Given the description of an element on the screen output the (x, y) to click on. 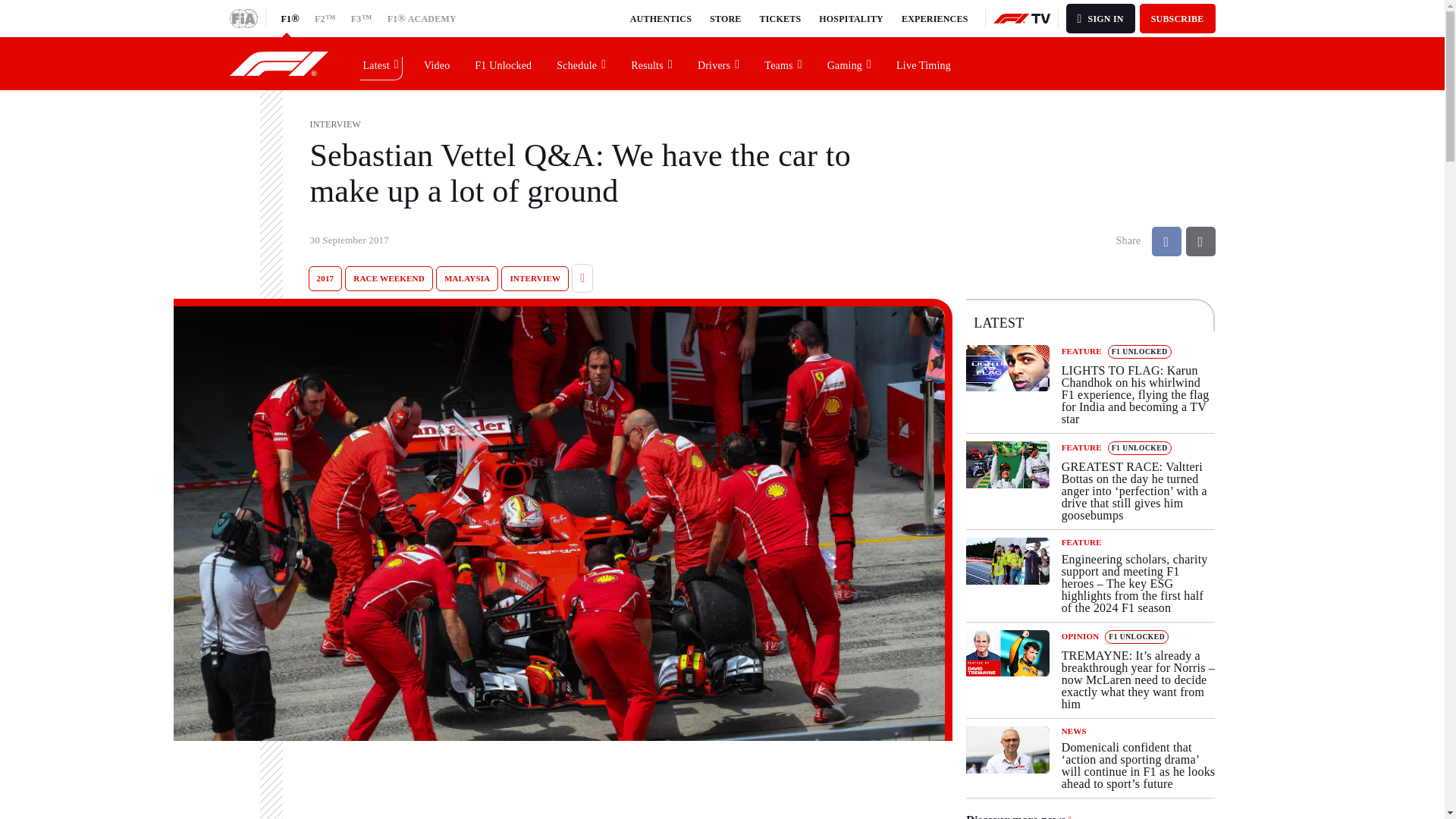
Results (651, 63)
Gaming (849, 63)
AUTHENTICS (660, 18)
F1 Unlocked (503, 63)
HOSPITALITY (850, 18)
EXPERIENCES (934, 18)
TICKETS (781, 18)
STORE (725, 18)
Schedule (581, 63)
